Given the description of an element on the screen output the (x, y) to click on. 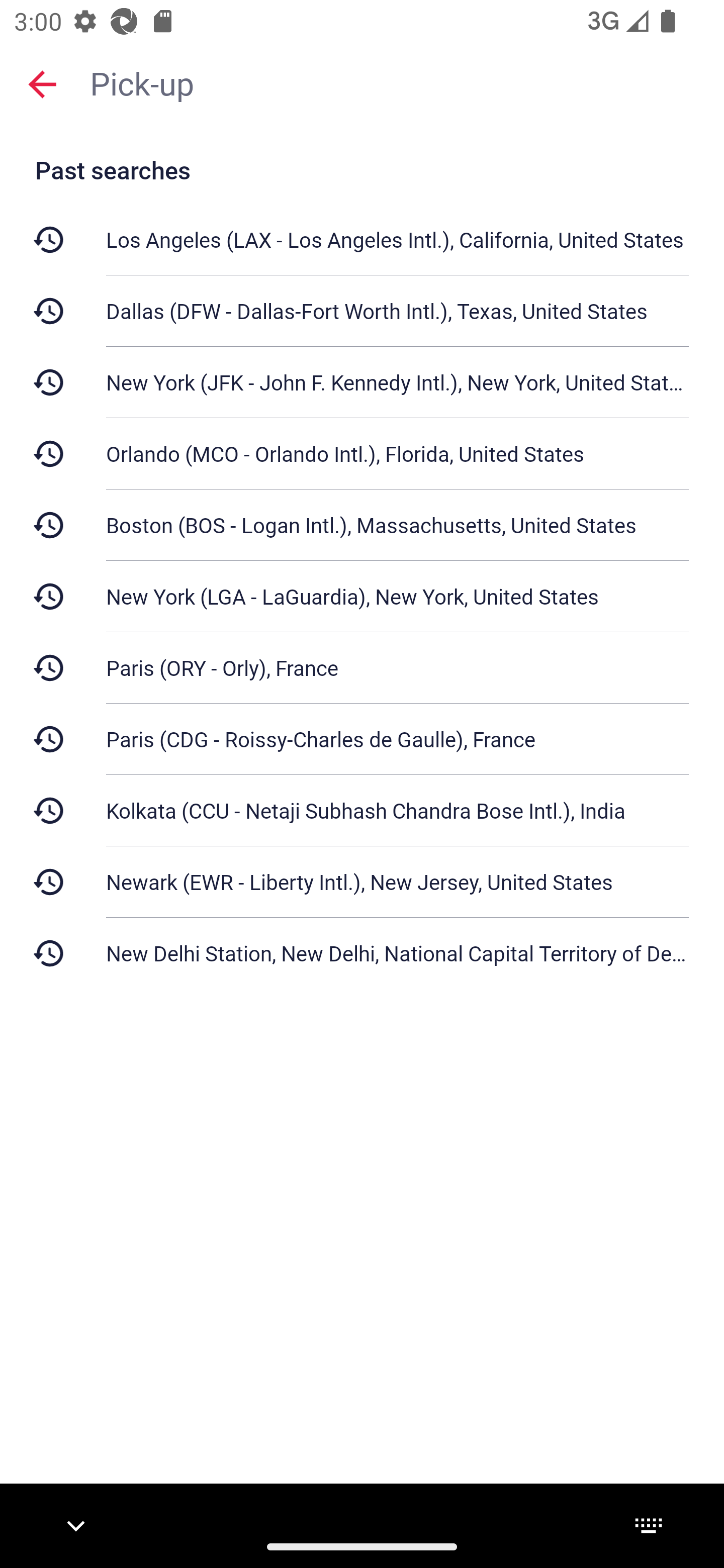
Pick-up,  (397, 82)
Close search screen (41, 83)
